Given the description of an element on the screen output the (x, y) to click on. 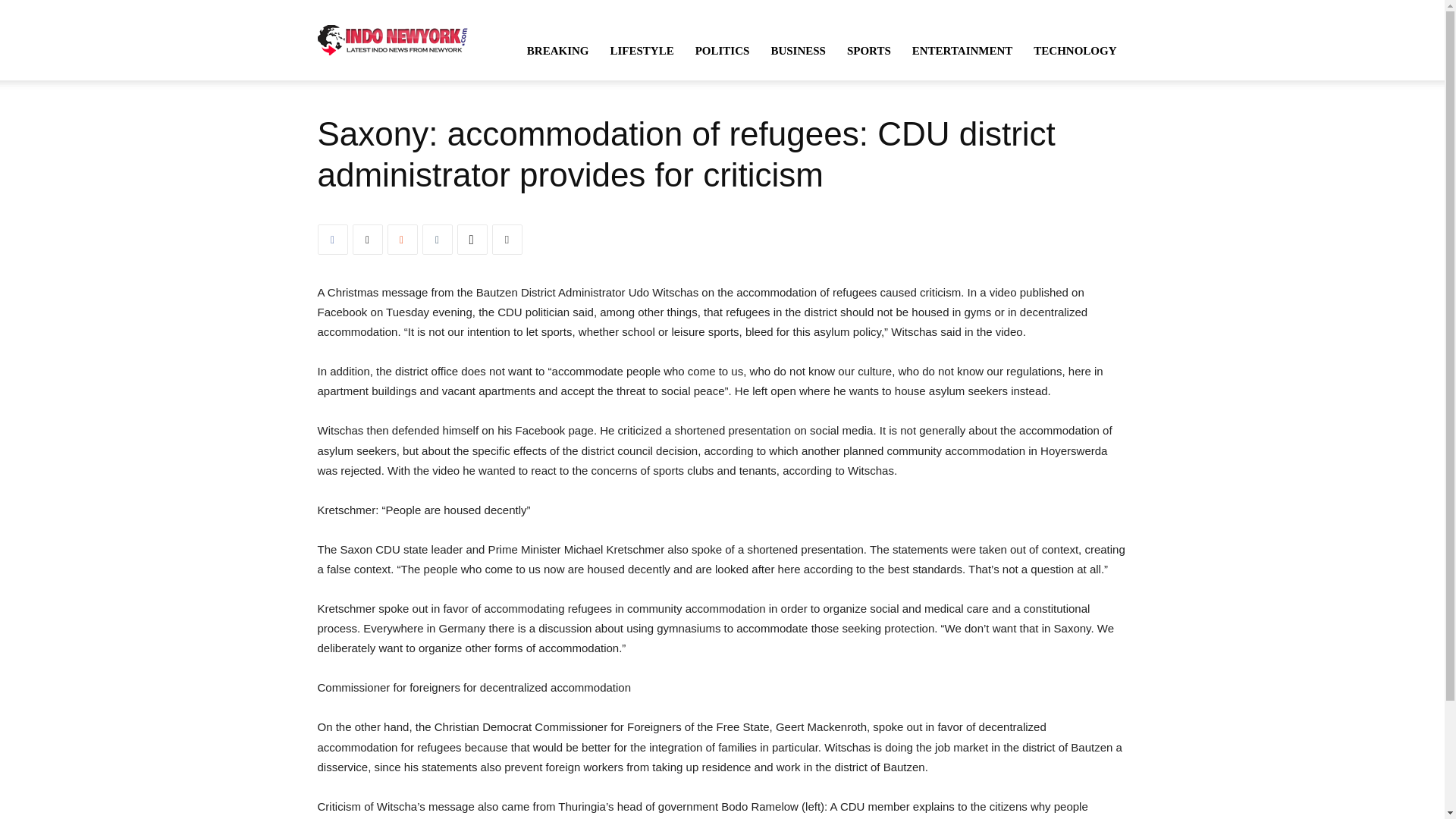
TECHNOLOGY (1074, 50)
Indo Newyork (392, 39)
Tumblr (436, 239)
LIFESTYLE (641, 50)
Digg (471, 239)
SPORTS (868, 50)
ENTERTAINMENT (962, 50)
Mix (401, 239)
BREAKING (557, 50)
Twitter (366, 239)
